Given the description of an element on the screen output the (x, y) to click on. 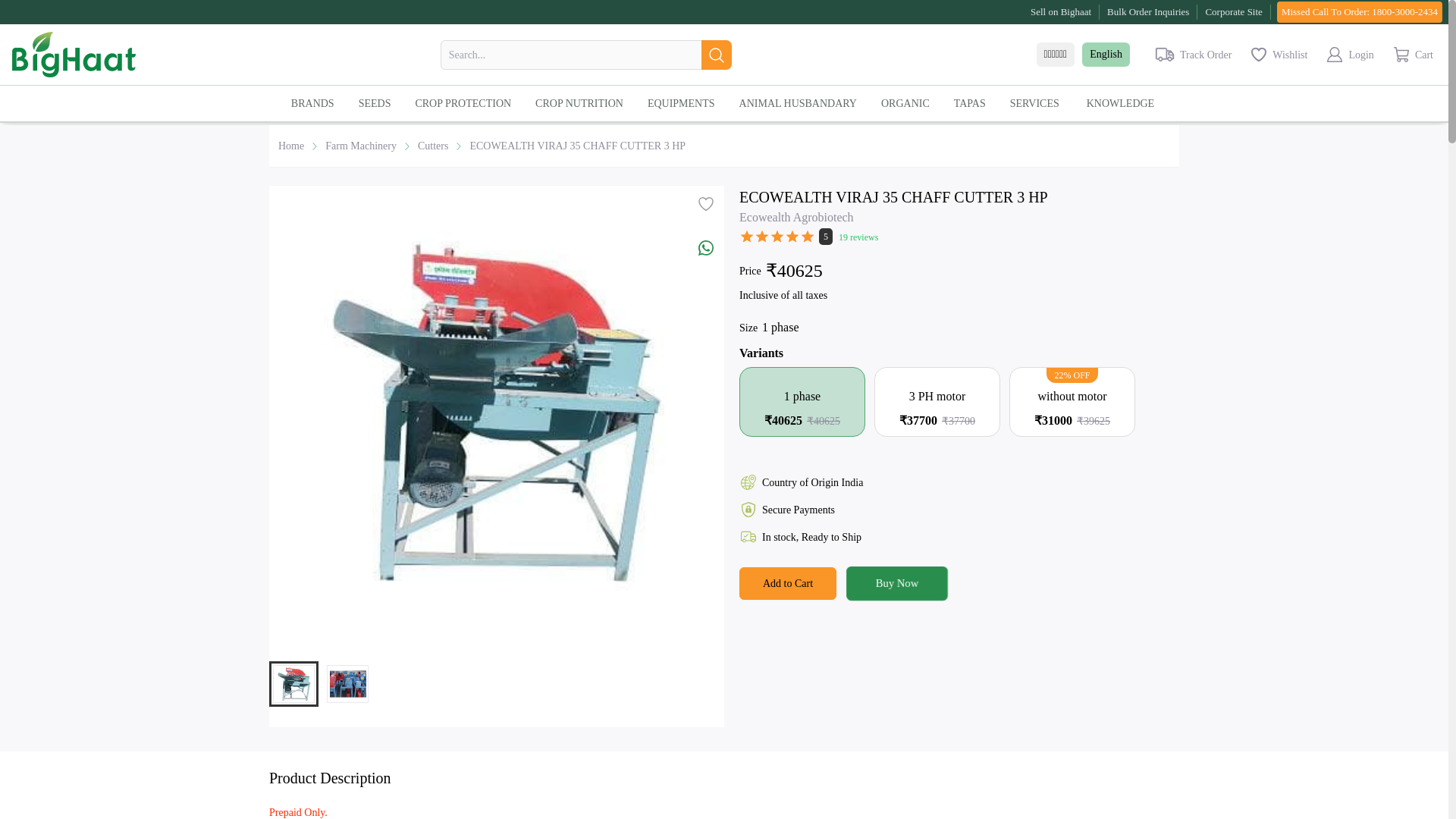
ANIMAL HUSBANDARY (804, 102)
5 out of 5 (777, 240)
TAPAS (975, 102)
Login (1348, 54)
CROP PROTECTION (469, 102)
TAPAS (975, 102)
CROP NUTRITION (584, 102)
Cart (1409, 54)
Wishlist (1278, 54)
SERVICES (1040, 102)
